Given the description of an element on the screen output the (x, y) to click on. 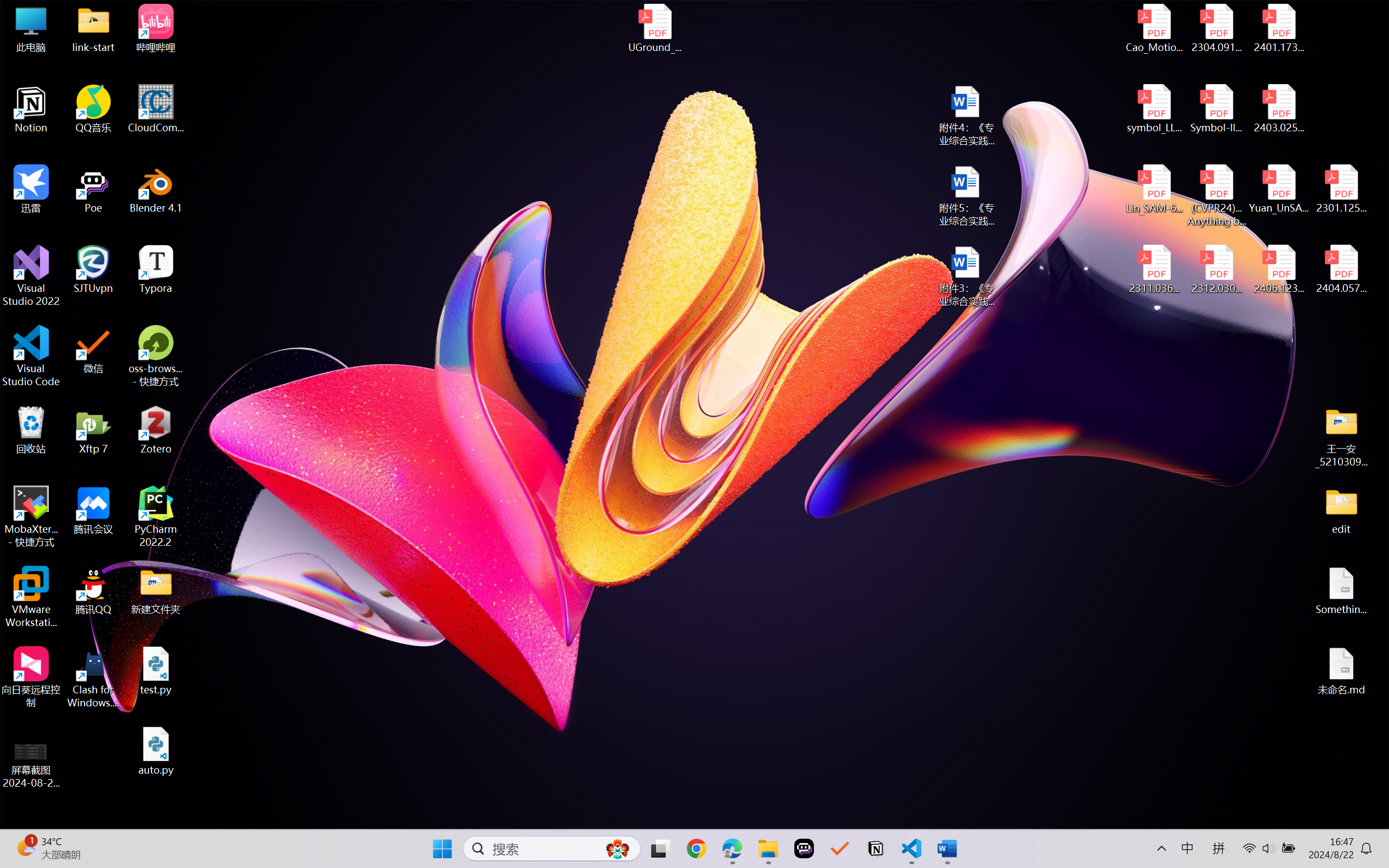
Google Chrome (696, 848)
VMware Workstation Pro (31, 597)
Something.md (1340, 591)
SJTUvpn (93, 269)
2301.12597v3.pdf (1340, 189)
